Given the description of an element on the screen output the (x, y) to click on. 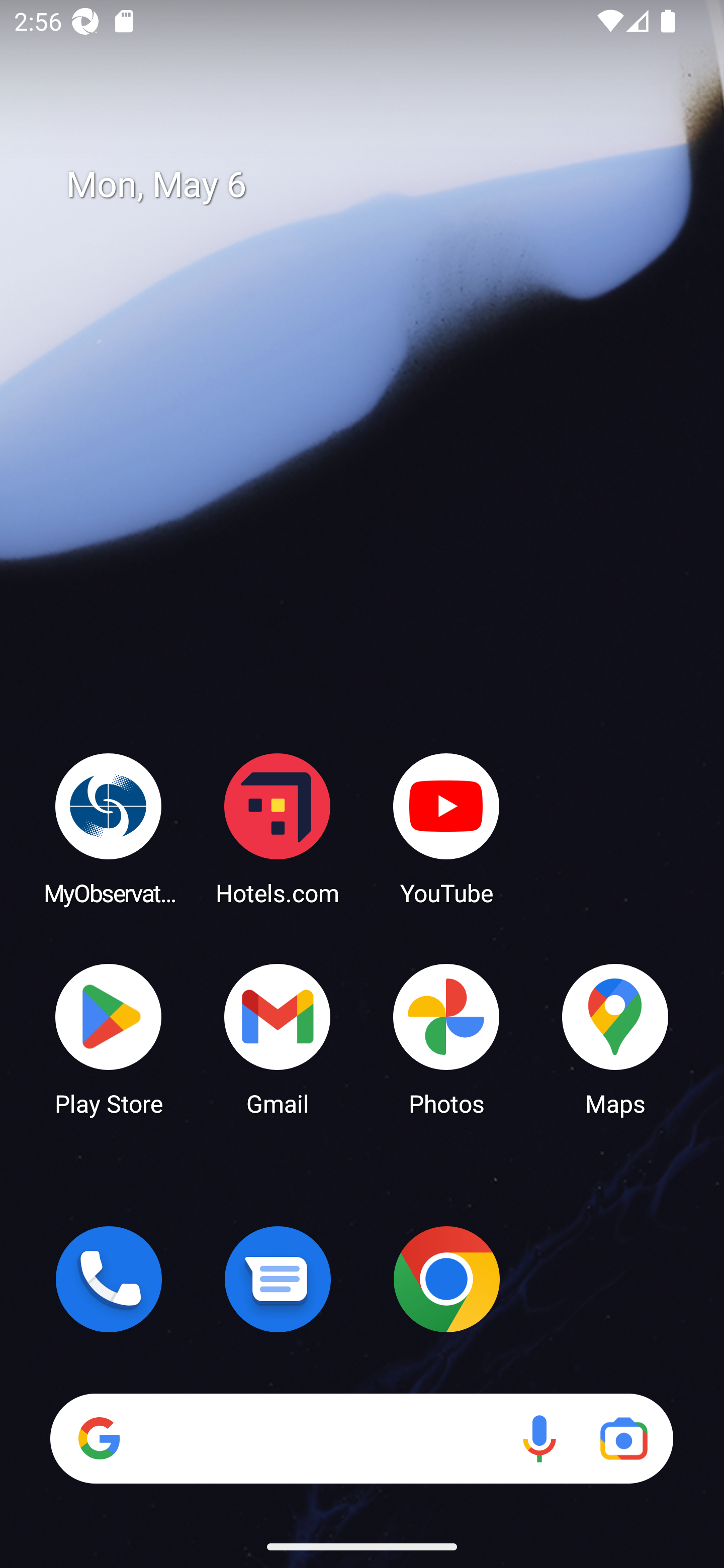
Mon, May 6 (375, 184)
MyObservatory (108, 828)
Hotels.com (277, 828)
YouTube (445, 828)
Play Store (108, 1038)
Gmail (277, 1038)
Photos (445, 1038)
Maps (615, 1038)
Phone (108, 1279)
Messages (277, 1279)
Chrome (446, 1279)
Search Voice search Google Lens (361, 1438)
Voice search (539, 1438)
Google Lens (623, 1438)
